Given the description of an element on the screen output the (x, y) to click on. 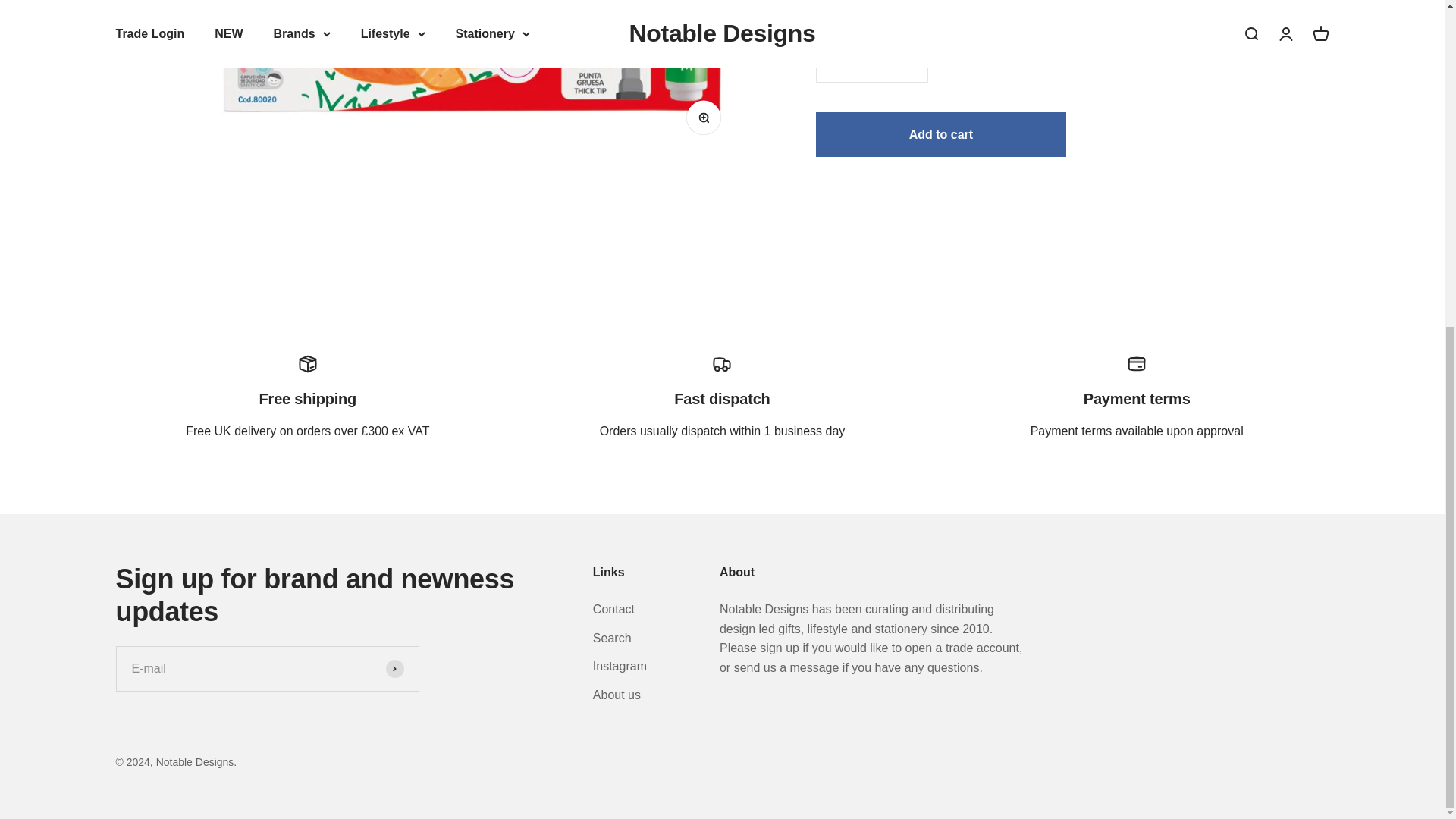
1 (871, 17)
